Given the description of an element on the screen output the (x, y) to click on. 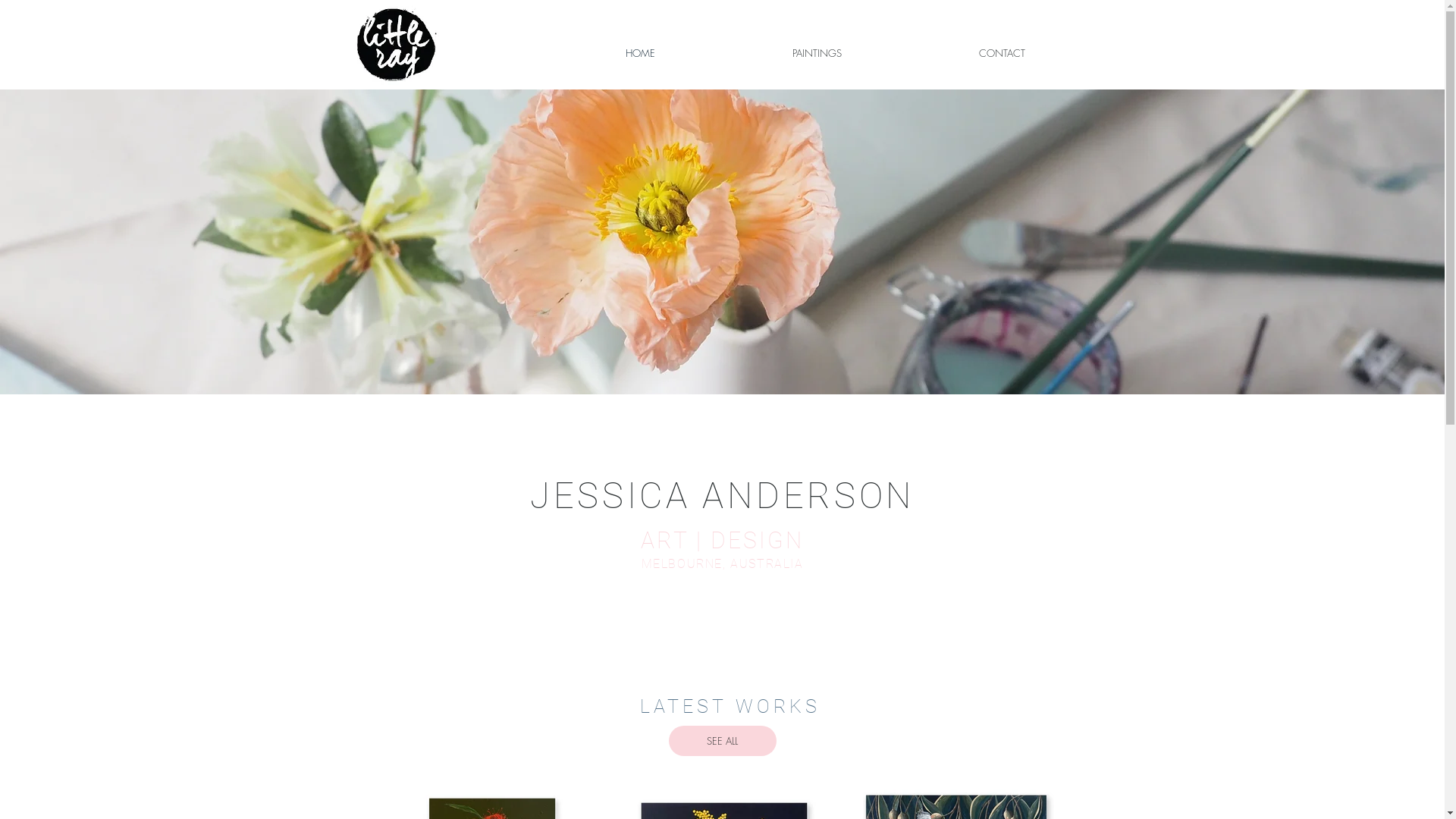
PAINTINGS Element type: text (816, 53)
SEE ALL Element type: text (722, 740)
CONTACT Element type: text (1001, 53)
HOME Element type: text (639, 53)
